Given the description of an element on the screen output the (x, y) to click on. 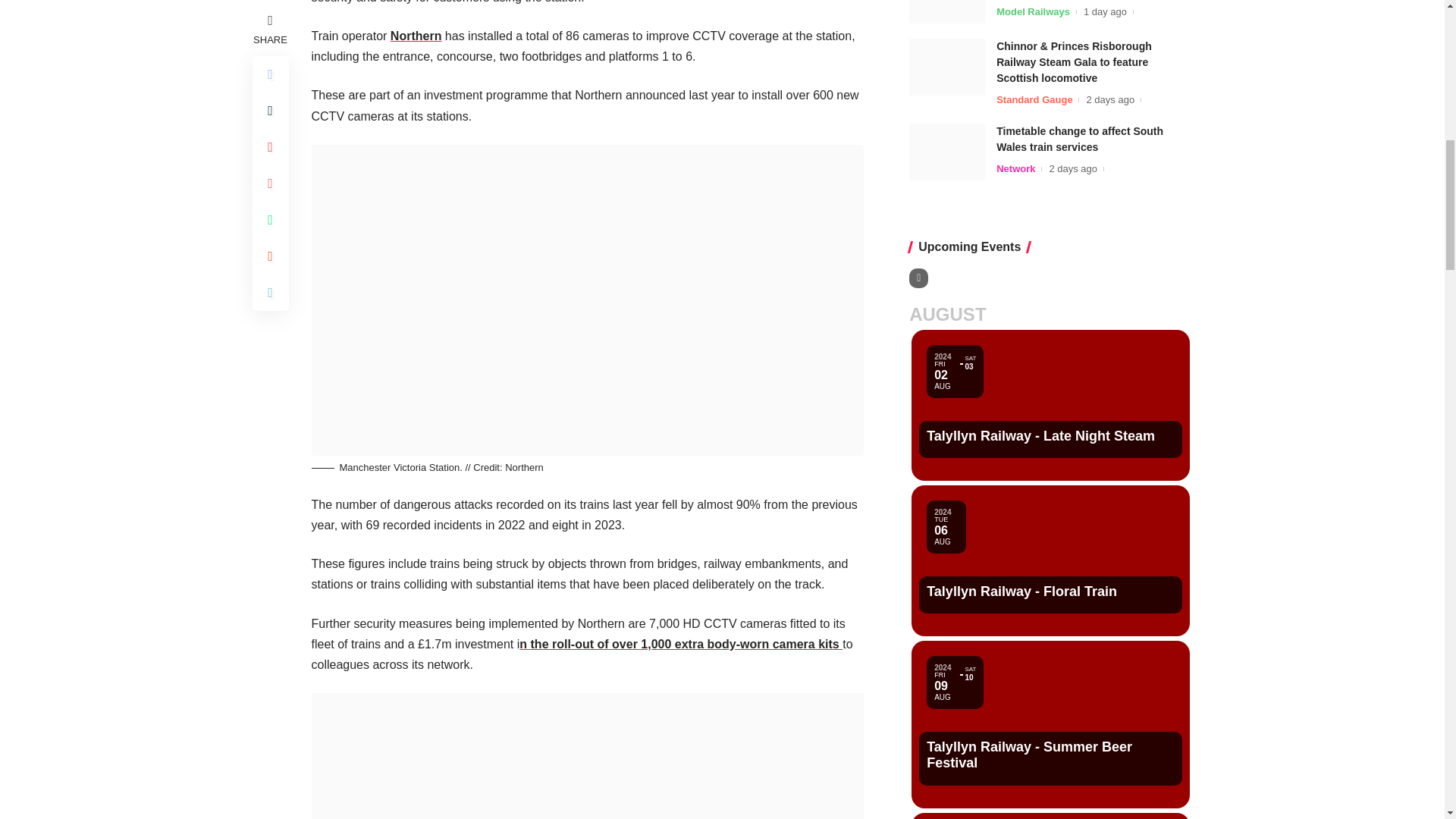
Posts tagged with Northern (416, 35)
Timetable change to affect South Wales train services (946, 13)
